Given the description of an element on the screen output the (x, y) to click on. 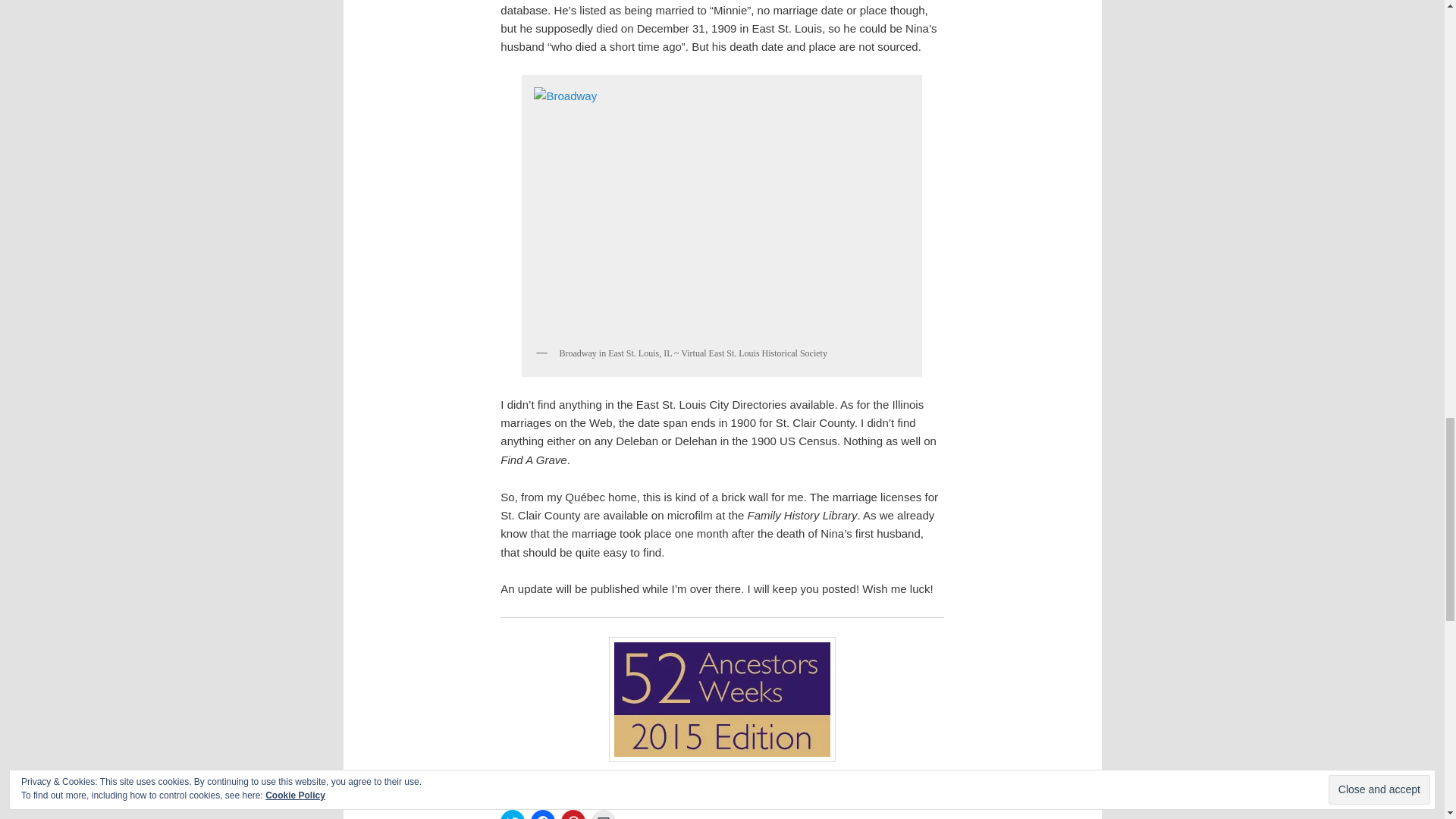
Click to share on Facebook (542, 814)
Click to email a link to a friend (603, 814)
Click to share on Twitter (512, 814)
Click to share on Pinterest (572, 814)
